Given the description of an element on the screen output the (x, y) to click on. 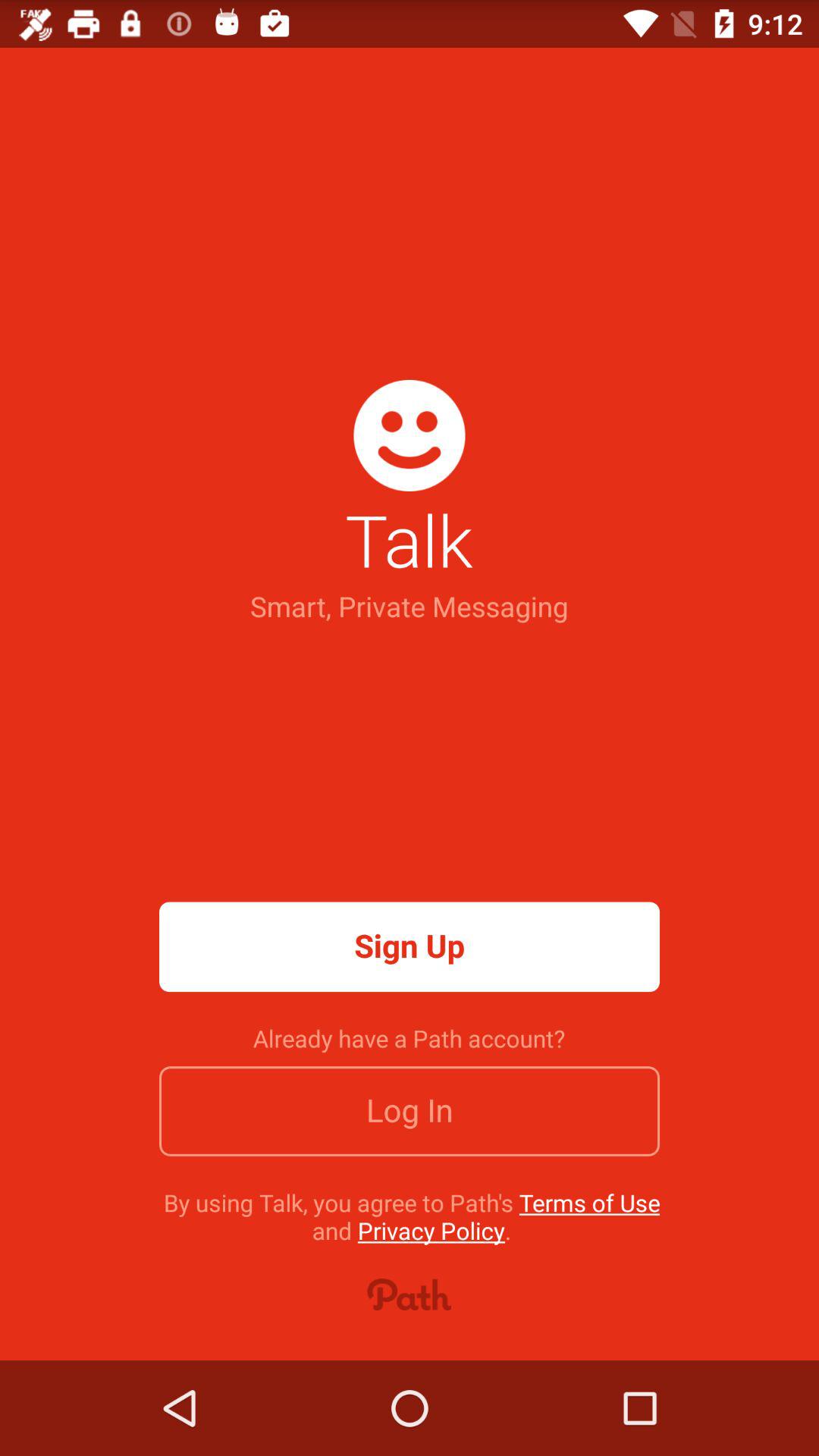
turn on the item below the already have a icon (409, 1111)
